Given the description of an element on the screen output the (x, y) to click on. 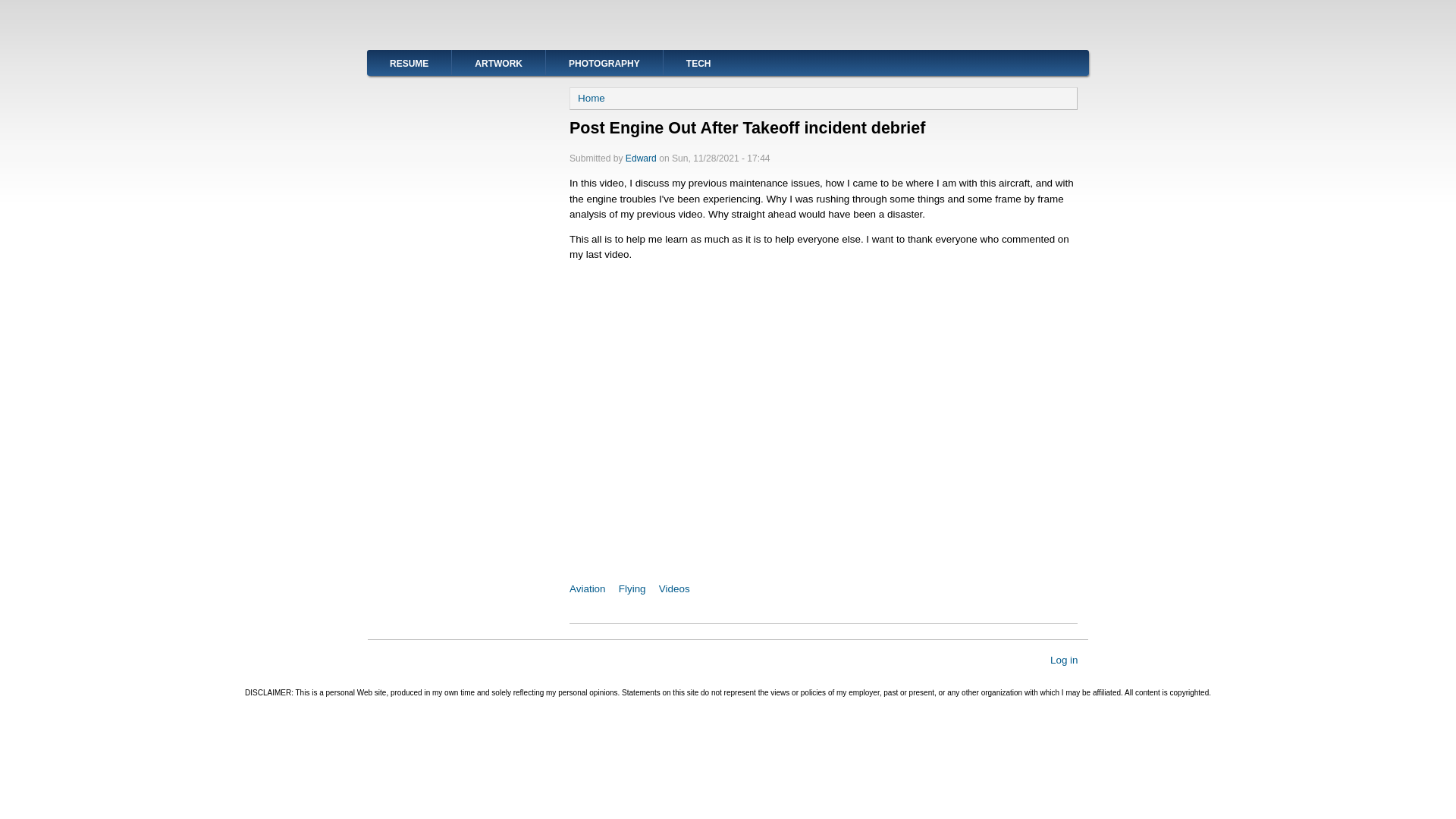
PHOTOGRAPHY (604, 62)
TECH (698, 62)
Aviation (587, 588)
Home (591, 98)
Flying (632, 588)
Edward (641, 158)
Videos (674, 588)
Log in (1063, 659)
View user profile. (641, 158)
ARTWORK (497, 62)
RESUME (408, 62)
